Given the description of an element on the screen output the (x, y) to click on. 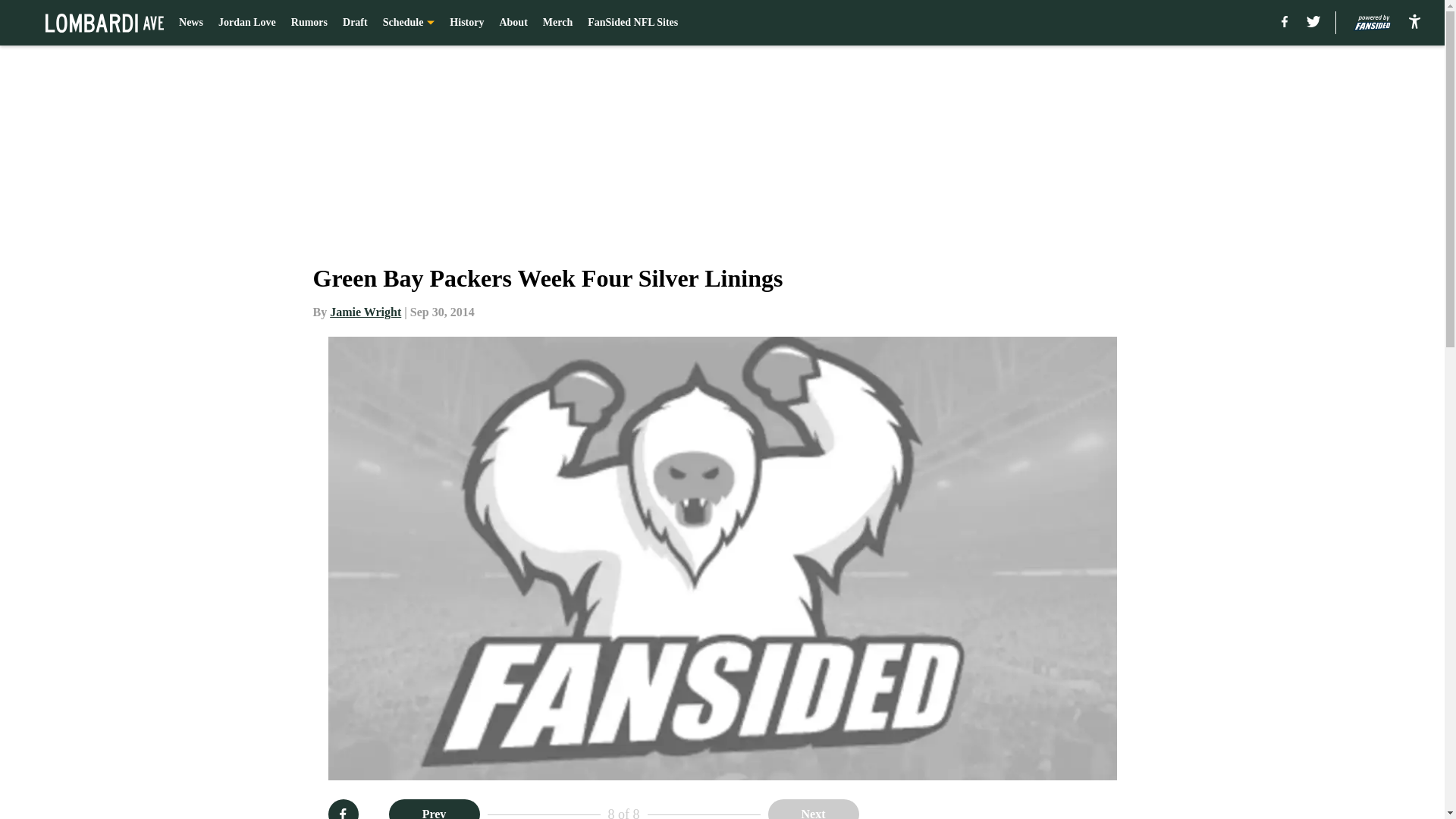
Merch (557, 22)
News (191, 22)
Jordan Love (247, 22)
History (466, 22)
Next (813, 809)
Rumors (309, 22)
FanSided NFL Sites (633, 22)
Prev (433, 809)
Draft (355, 22)
Jamie Wright (365, 311)
